Given the description of an element on the screen output the (x, y) to click on. 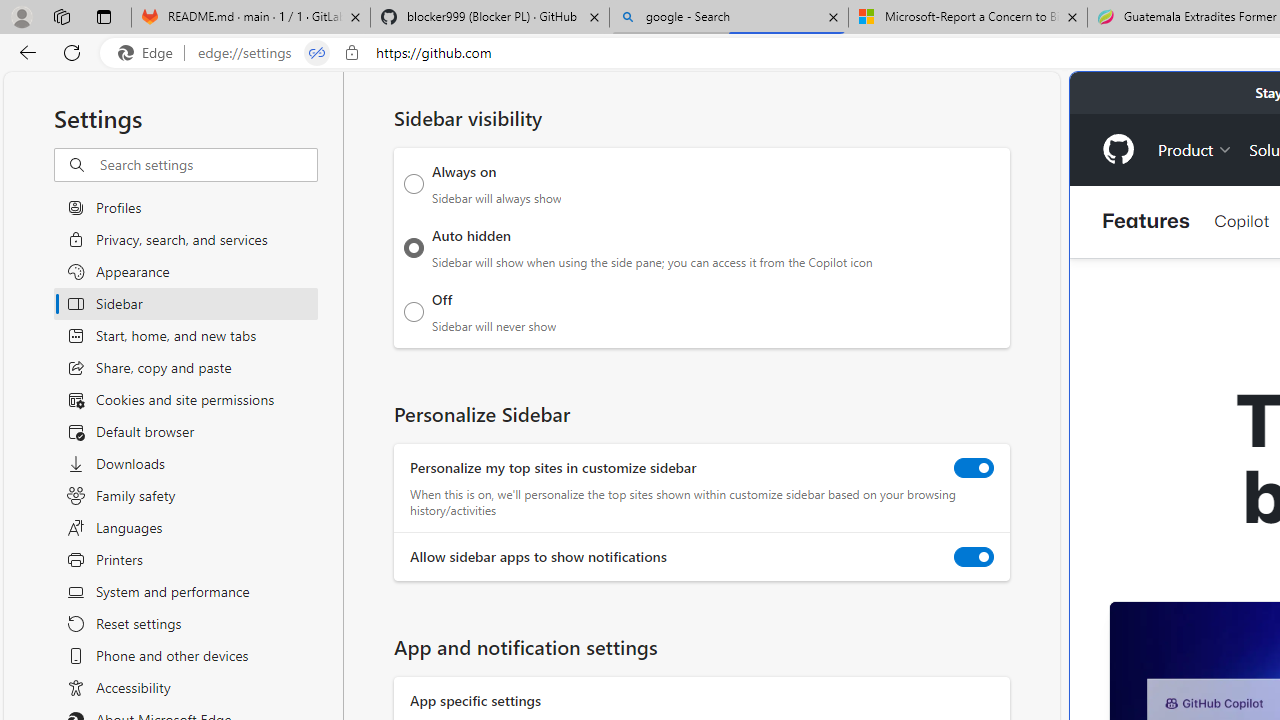
Tabs in split screen (317, 53)
Allow sidebar apps to show notifications (973, 557)
Product (1195, 148)
Edge (150, 53)
Copilot (1241, 220)
